Given the description of an element on the screen output the (x, y) to click on. 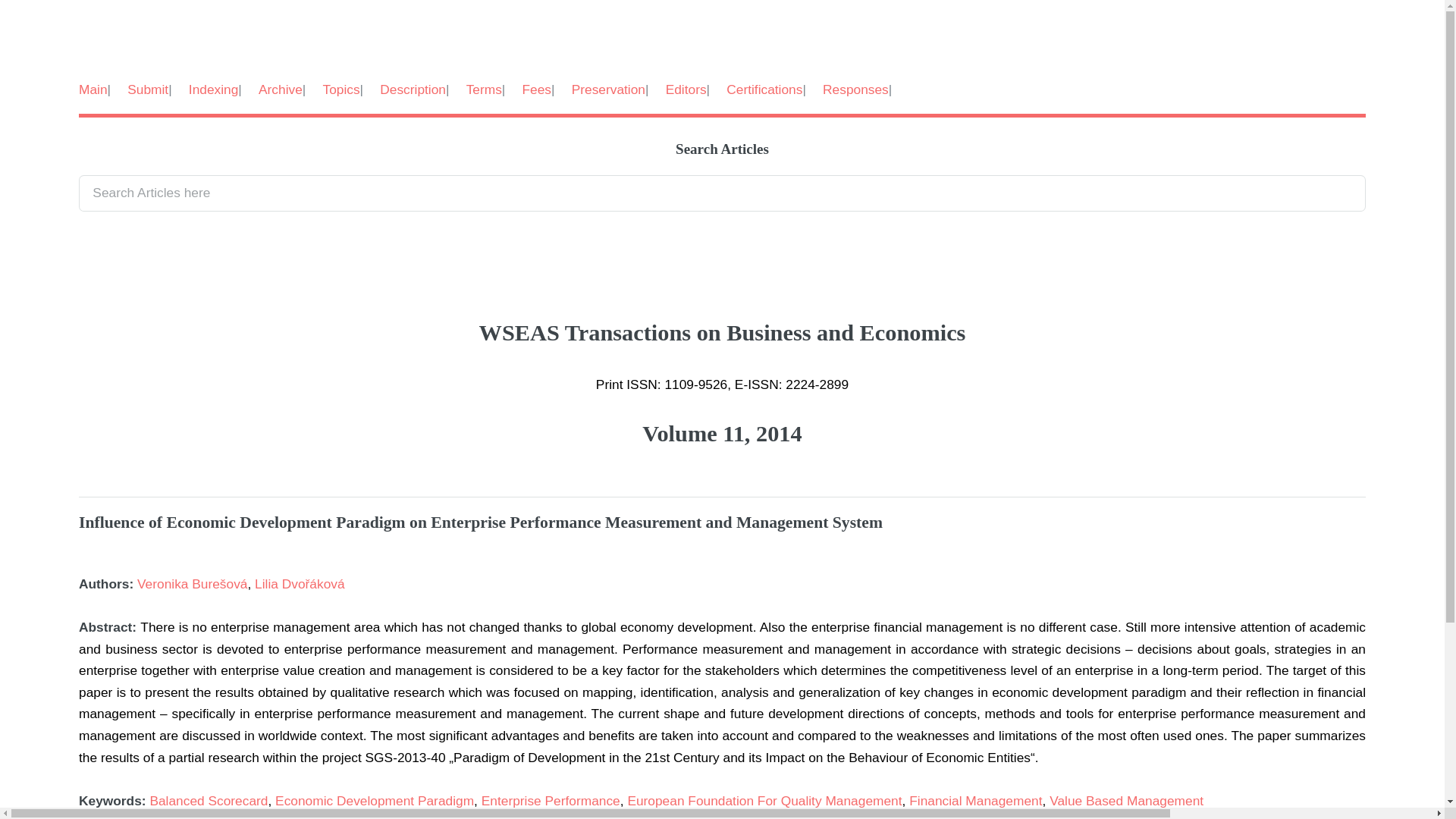
Archive (280, 89)
WSEAS Transactions on Business and Economics (721, 354)
Preservation (608, 89)
Enterprise Performance (550, 800)
Submit (148, 89)
Description (412, 89)
Economic Development Paradigm (374, 800)
European Foundation For Quality Management (764, 800)
Balanced Scorecard (208, 800)
